Given the description of an element on the screen output the (x, y) to click on. 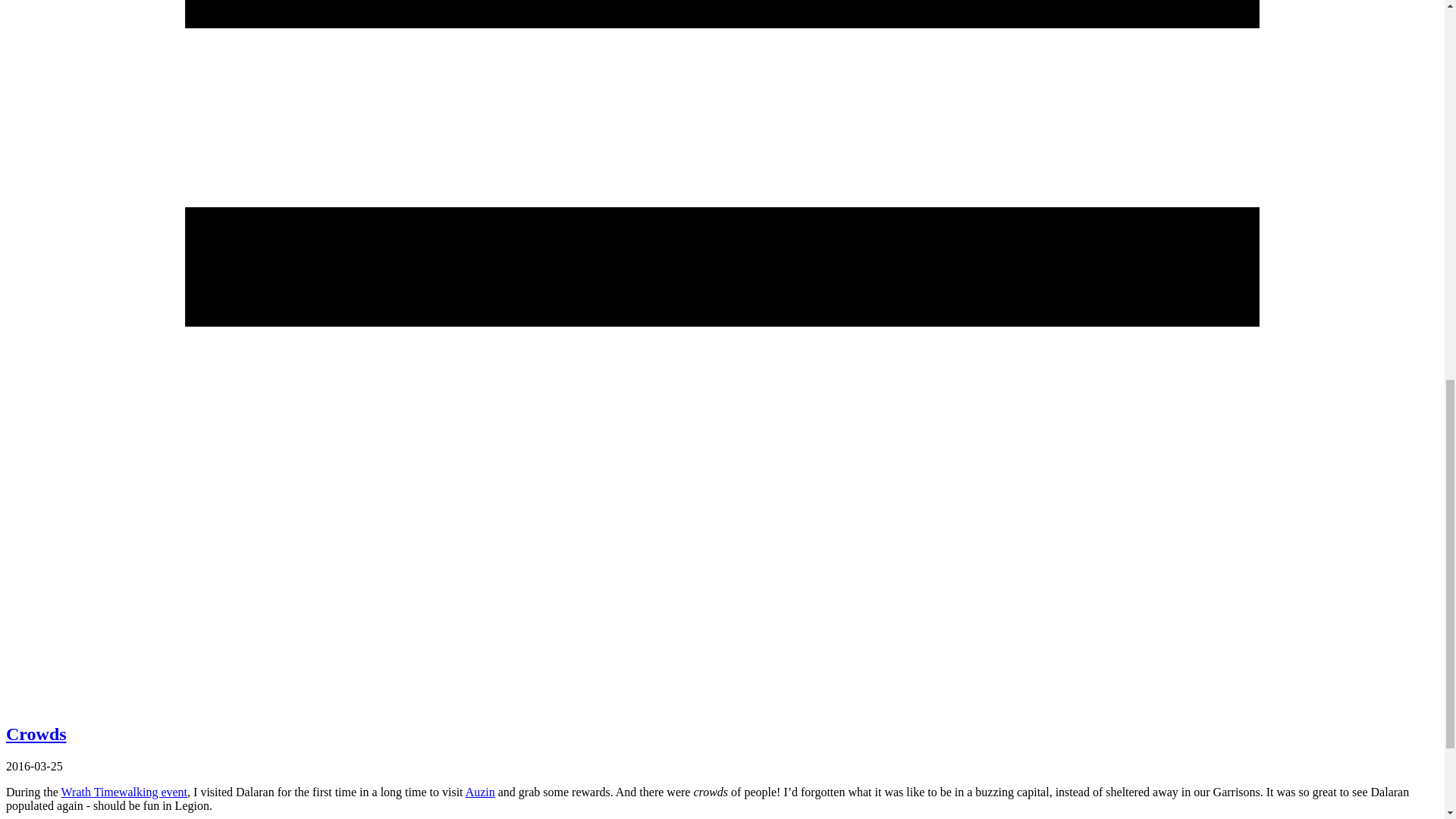
Wrath Timewalking event (124, 791)
Auzin (480, 791)
Crowds (35, 733)
